Given the description of an element on the screen output the (x, y) to click on. 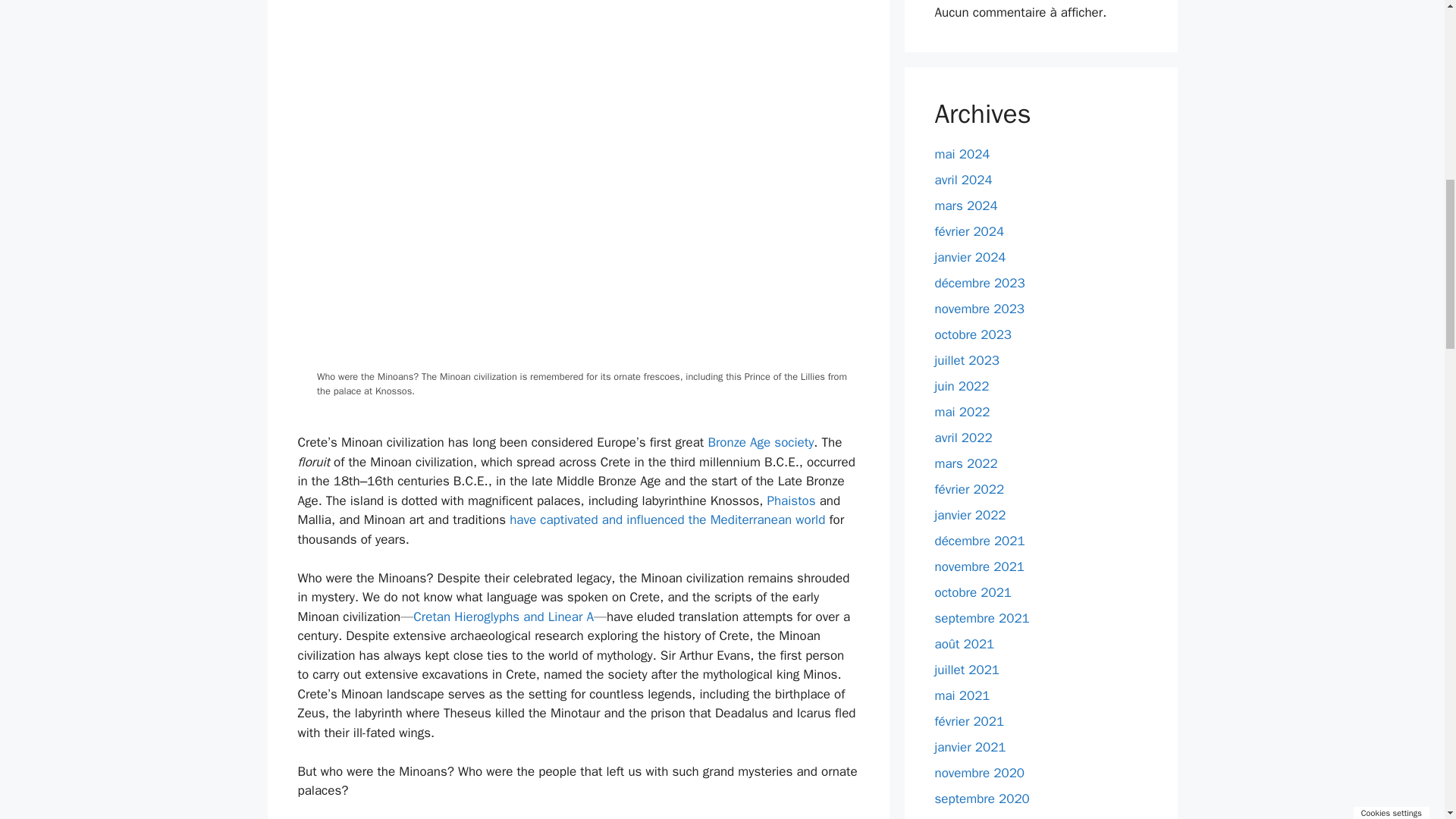
avril 2024 (962, 179)
Phaistos (791, 500)
Bronze Age society (760, 442)
minoan (587, 59)
mai 2024 (962, 154)
mars 2024 (965, 205)
have captivated and influenced the Mediterranean world (667, 519)
Cretan Hieroglyphs and Linear A (503, 616)
